Given the description of an element on the screen output the (x, y) to click on. 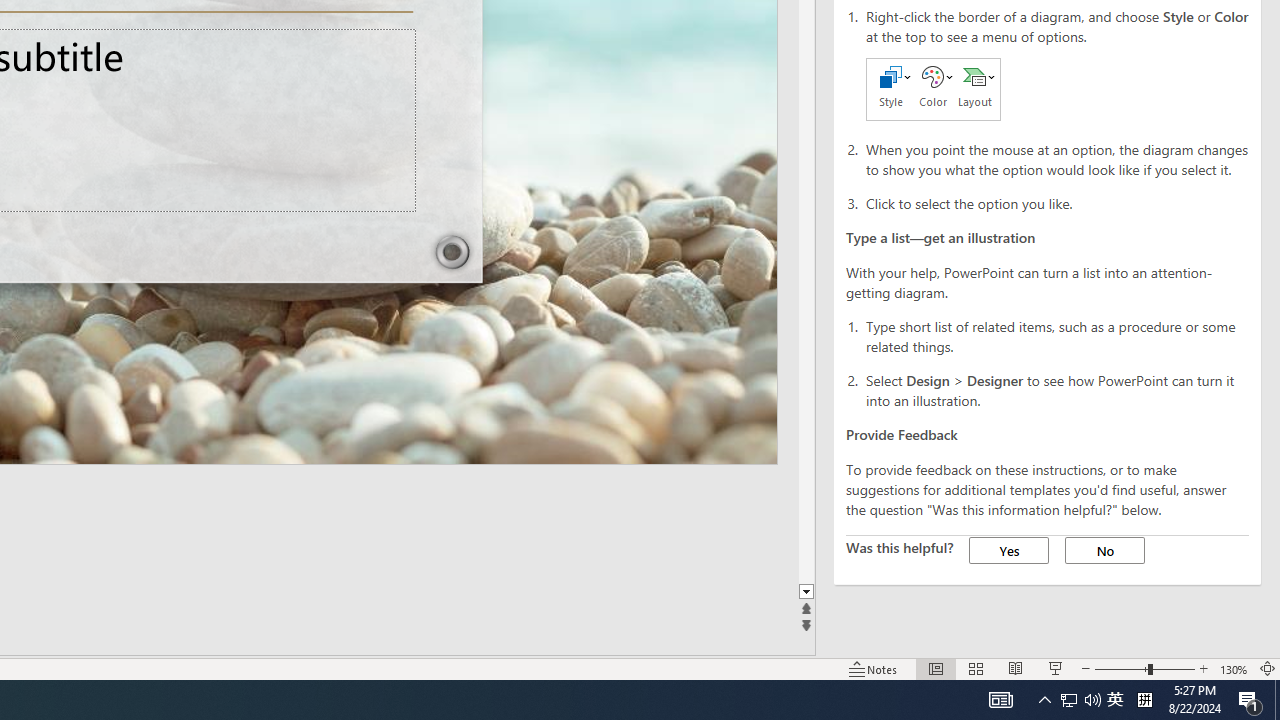
Zoom 130% (1234, 668)
No (1104, 550)
Yes (1008, 550)
